Given the description of an element on the screen output the (x, y) to click on. 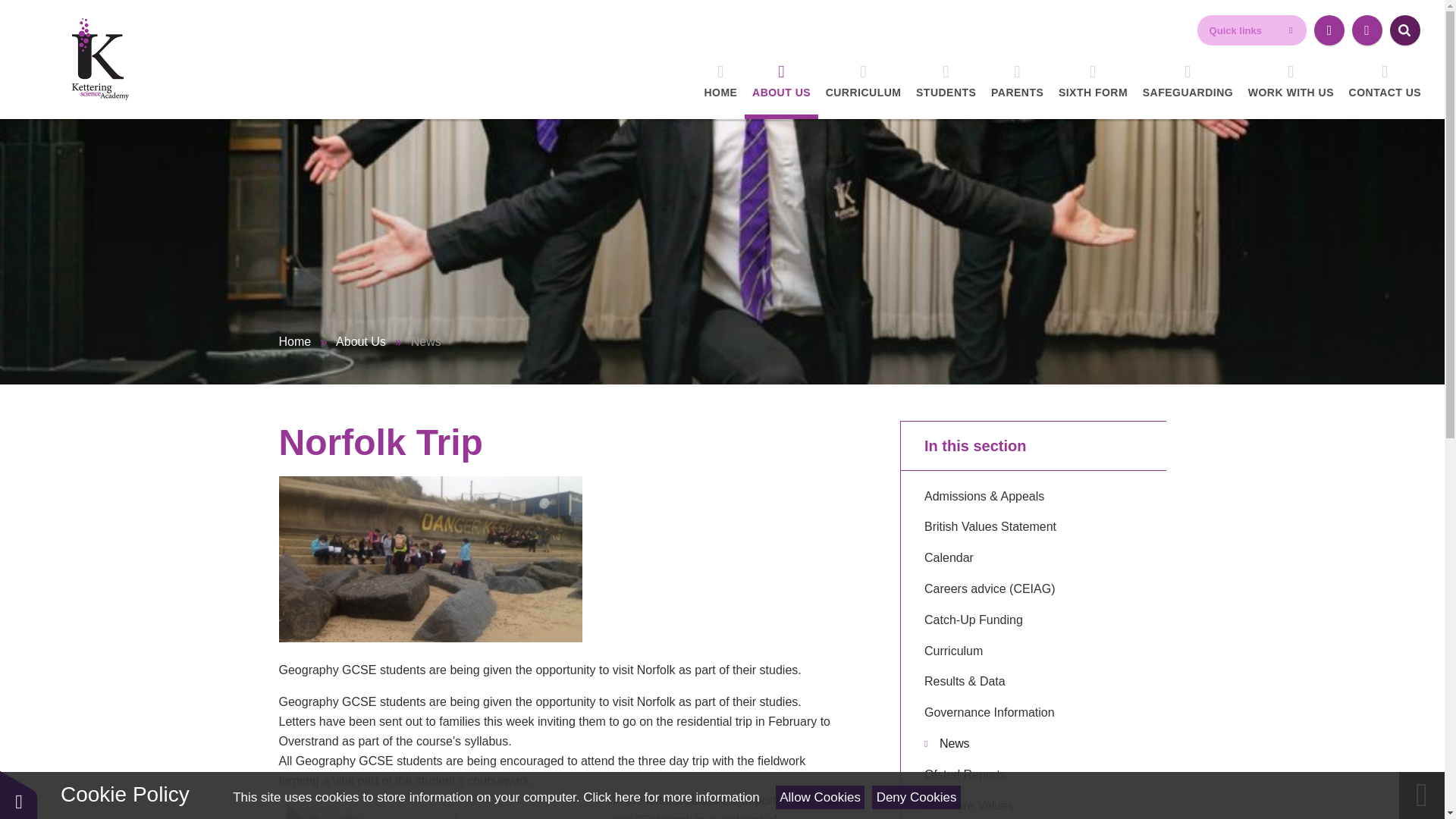
ABOUT US (781, 81)
See cookie policy (670, 797)
Allow Cookies (820, 797)
Deny Cookies (915, 797)
